Given the description of an element on the screen output the (x, y) to click on. 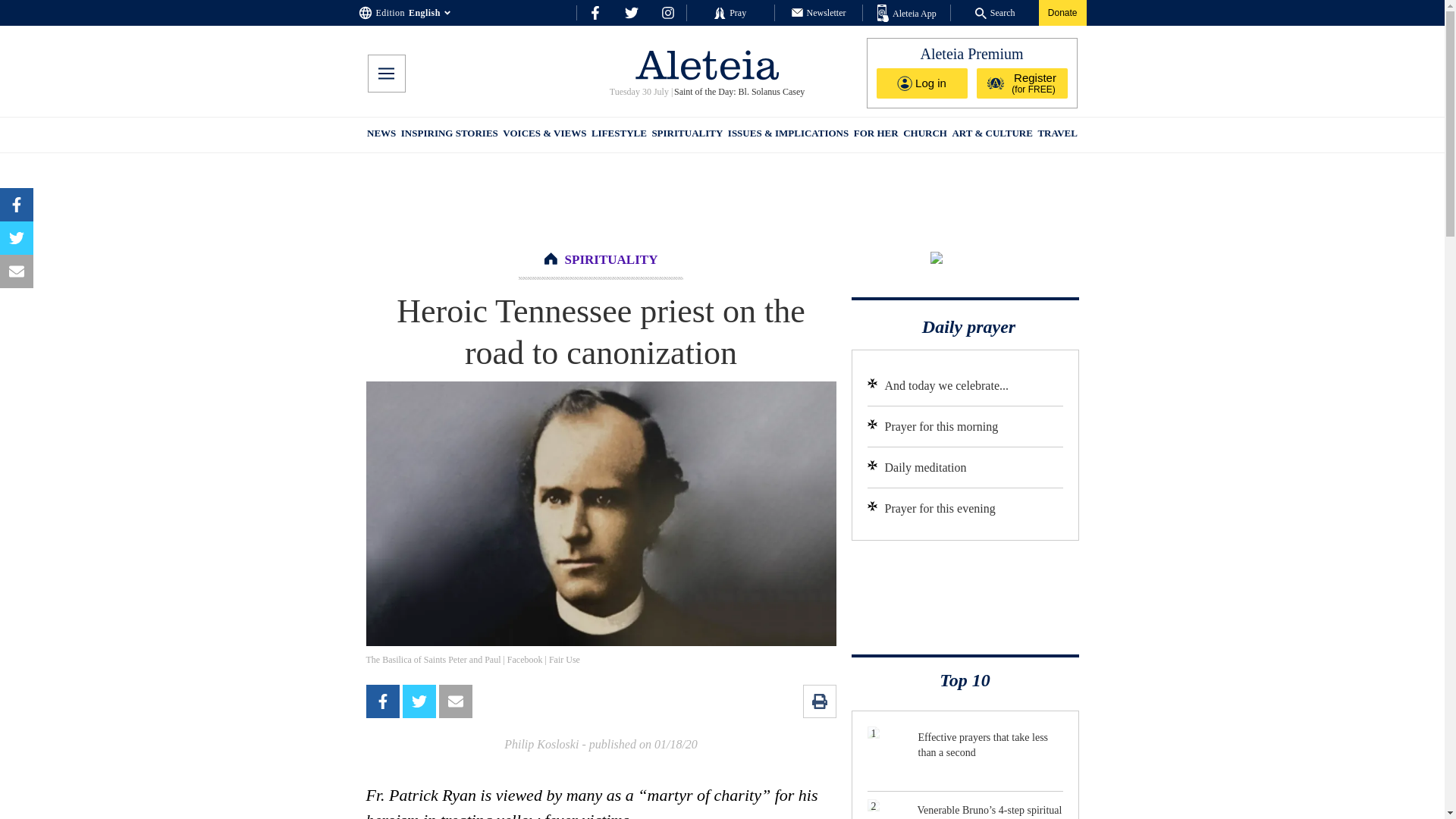
Donate (1062, 12)
LIFESTYLE (618, 134)
mobile-menu-btn (385, 73)
INSPIRING STORIES (449, 134)
FOR HER (875, 134)
SPIRITUALITY (611, 259)
CHURCH (924, 134)
Aleteia App (906, 13)
logo-header (706, 64)
social-tw-top-row (631, 12)
social-fb-top-row (595, 12)
SPIRITUALITY (686, 134)
Saint of the Day: Bl. Solanus Casey (738, 91)
Search (994, 12)
Log in (922, 82)
